Given the description of an element on the screen output the (x, y) to click on. 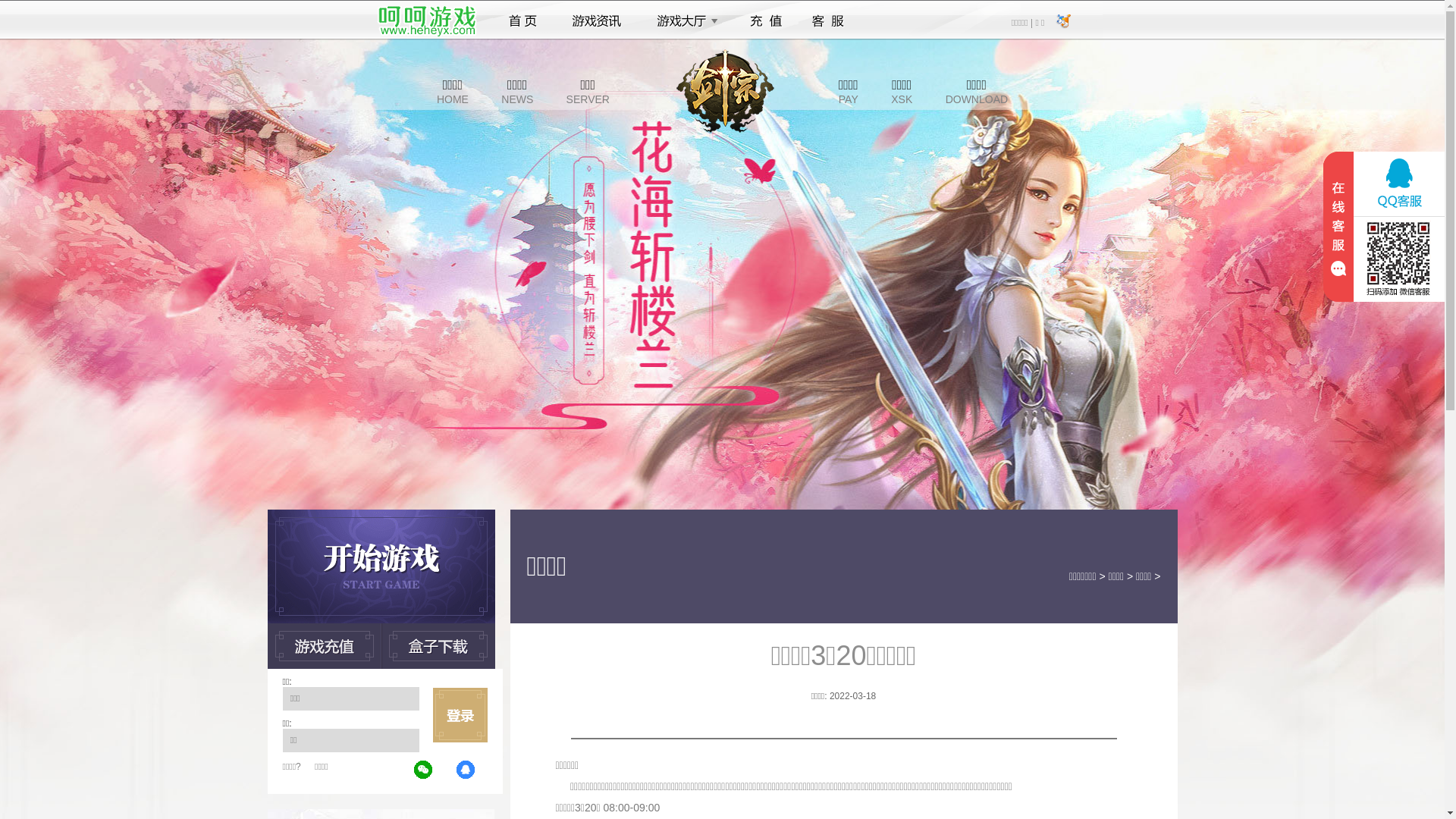
QQ Element type: hover (466, 770)
